Given the description of an element on the screen output the (x, y) to click on. 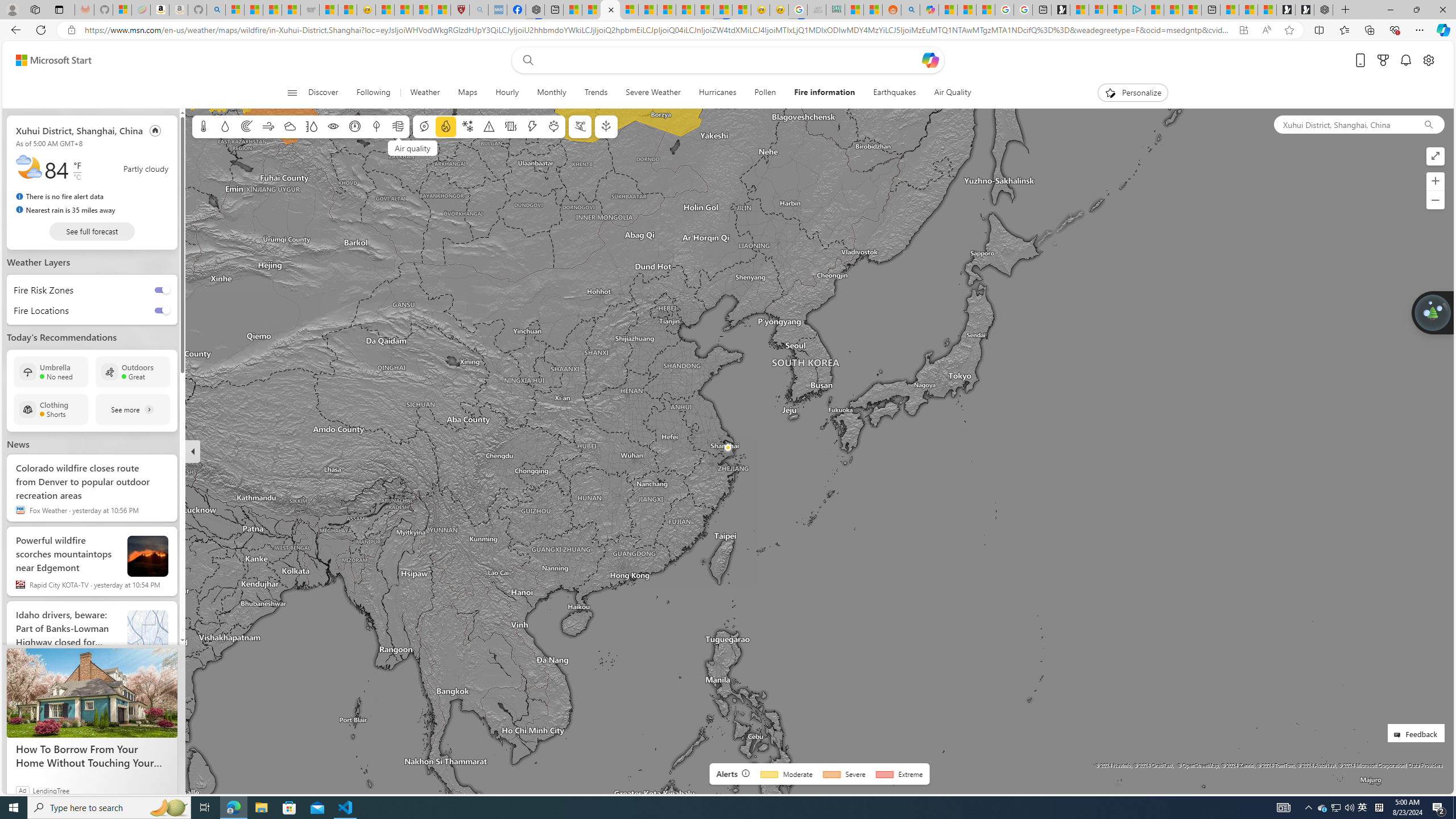
Trends (595, 92)
Monthly (551, 92)
Severe Weather (653, 92)
Fire information (445, 126)
Microsoft Copilot in Bing (929, 9)
Fire information (824, 92)
